Given the description of an element on the screen output the (x, y) to click on. 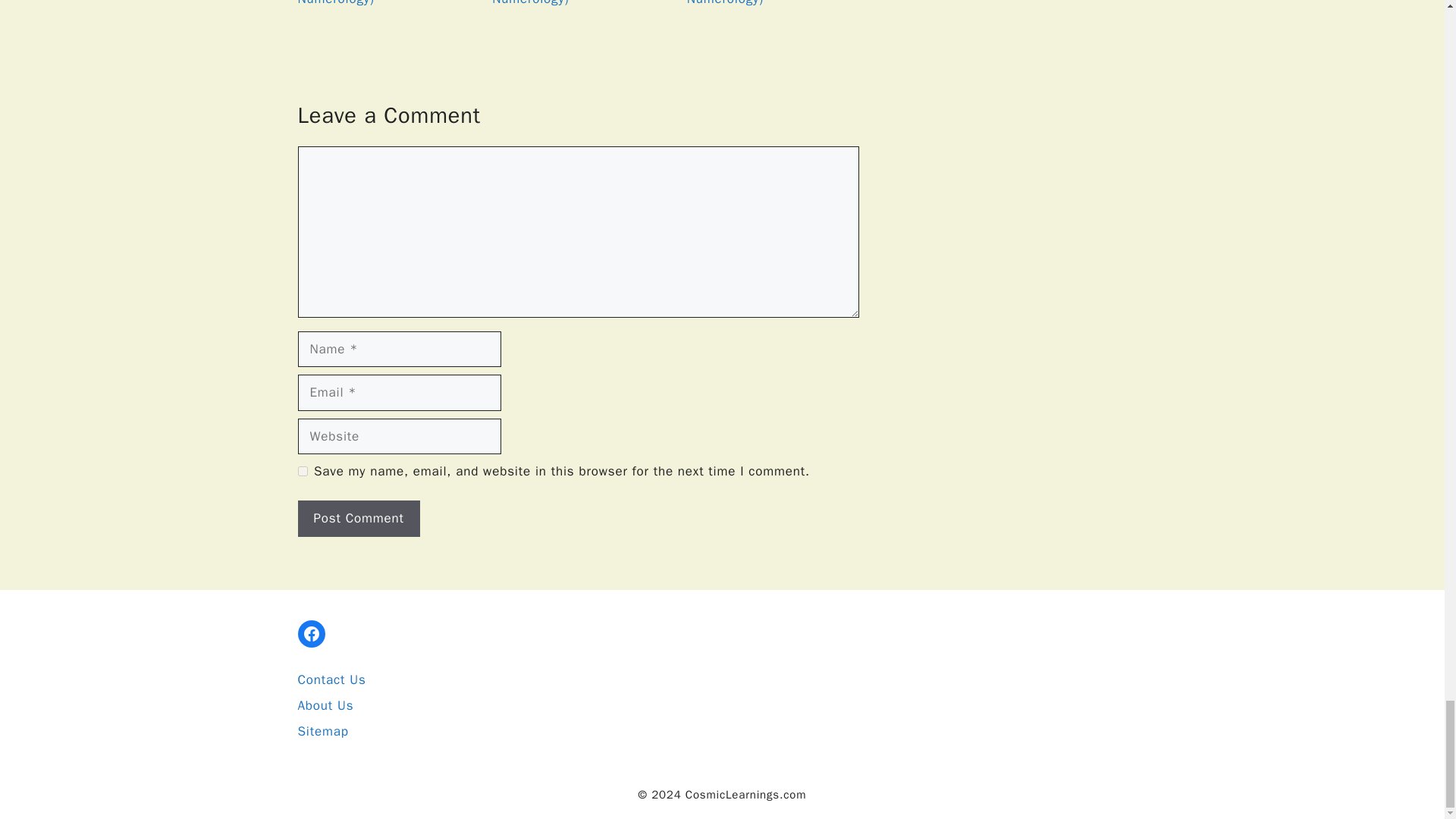
yes (302, 470)
Post Comment (358, 518)
